Given the description of an element on the screen output the (x, y) to click on. 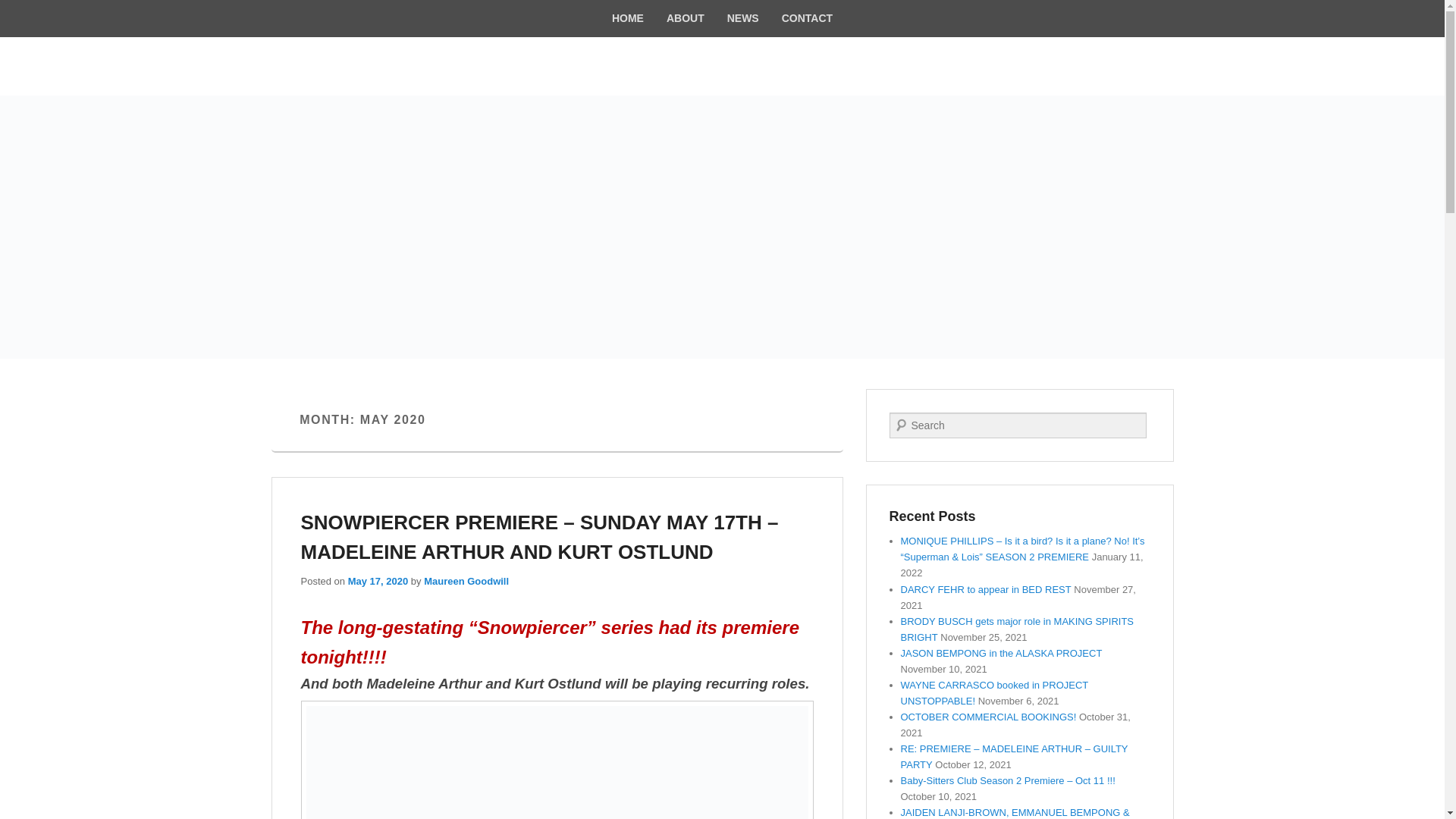
HOME (627, 18)
ABOUT (685, 18)
BRODY BUSCH gets major role in MAKING SPIRITS BRIGHT (1017, 628)
Search (21, 11)
Mogoodtalent (385, 84)
1:52 pm (378, 581)
DARCY FEHR to appear in BED REST (986, 589)
NEWS (743, 18)
Mogoodtalent (385, 84)
OCTOBER COMMERCIAL BOOKINGS! (989, 716)
